Given the description of an element on the screen output the (x, y) to click on. 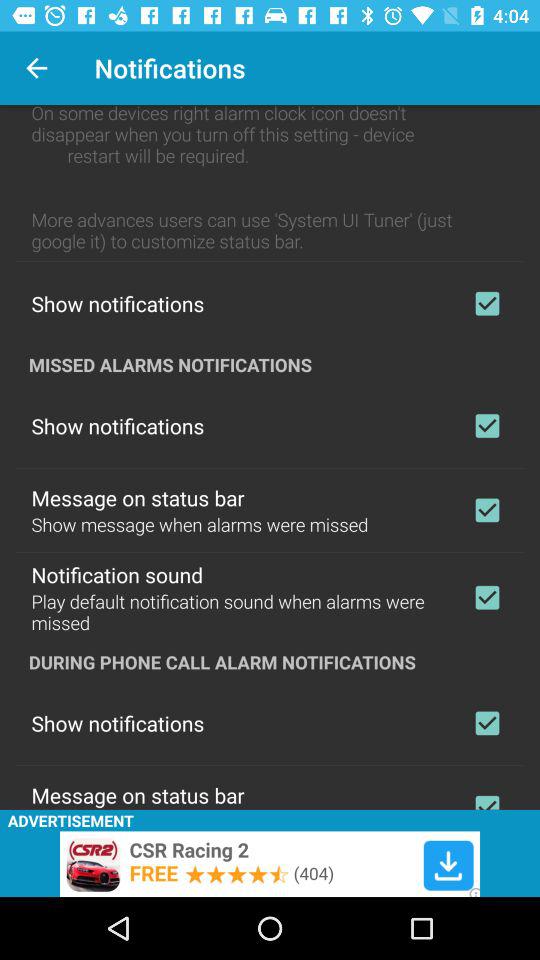
click on the button which is next to show notifications (488, 426)
